Given the description of an element on the screen output the (x, y) to click on. 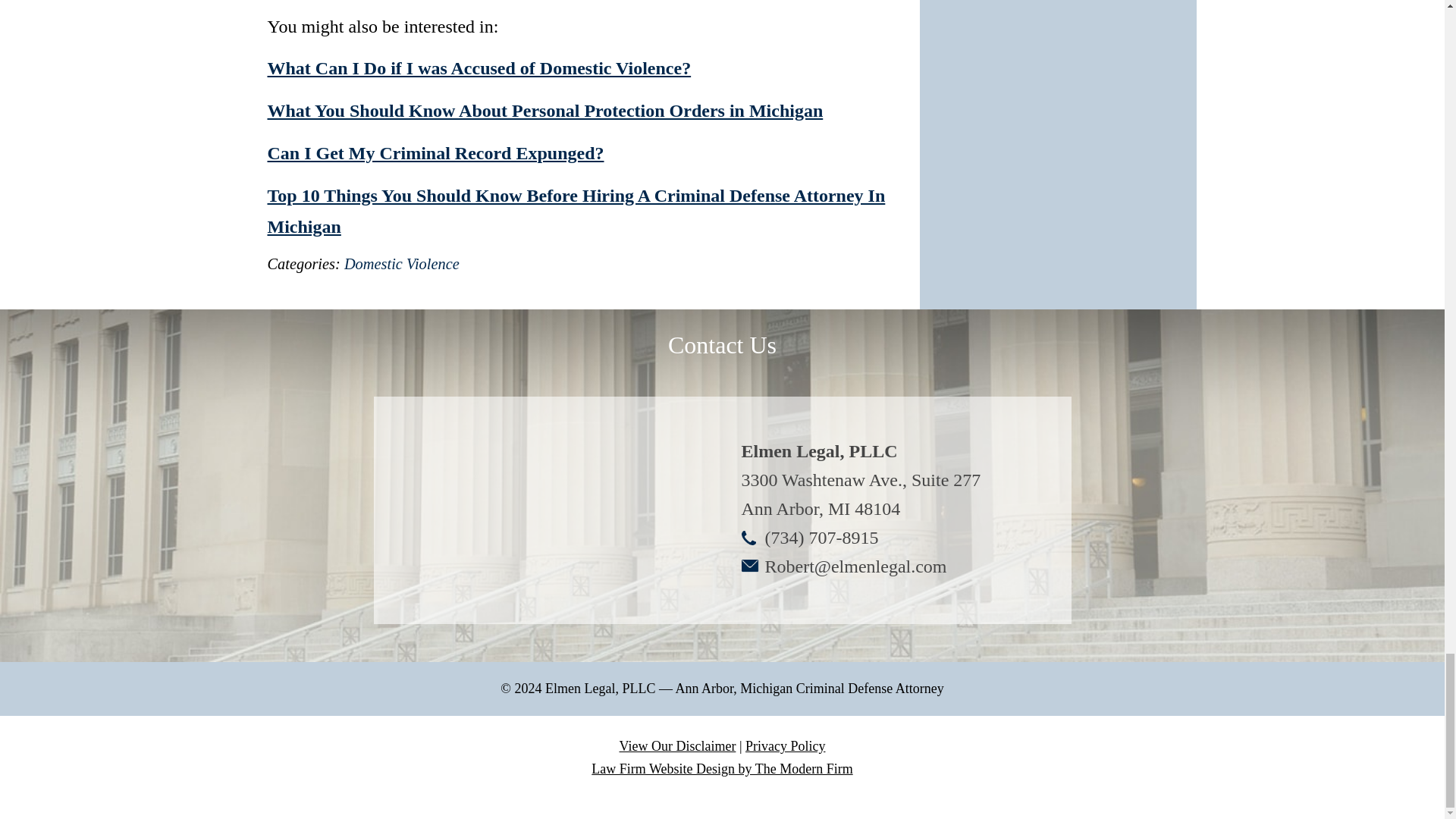
Email (855, 566)
Law Firm Website Design (721, 768)
Click for more Domestic Violence information (401, 263)
Click to view this map on Google Maps (547, 510)
Disclaimer (676, 745)
